Given the description of an element on the screen output the (x, y) to click on. 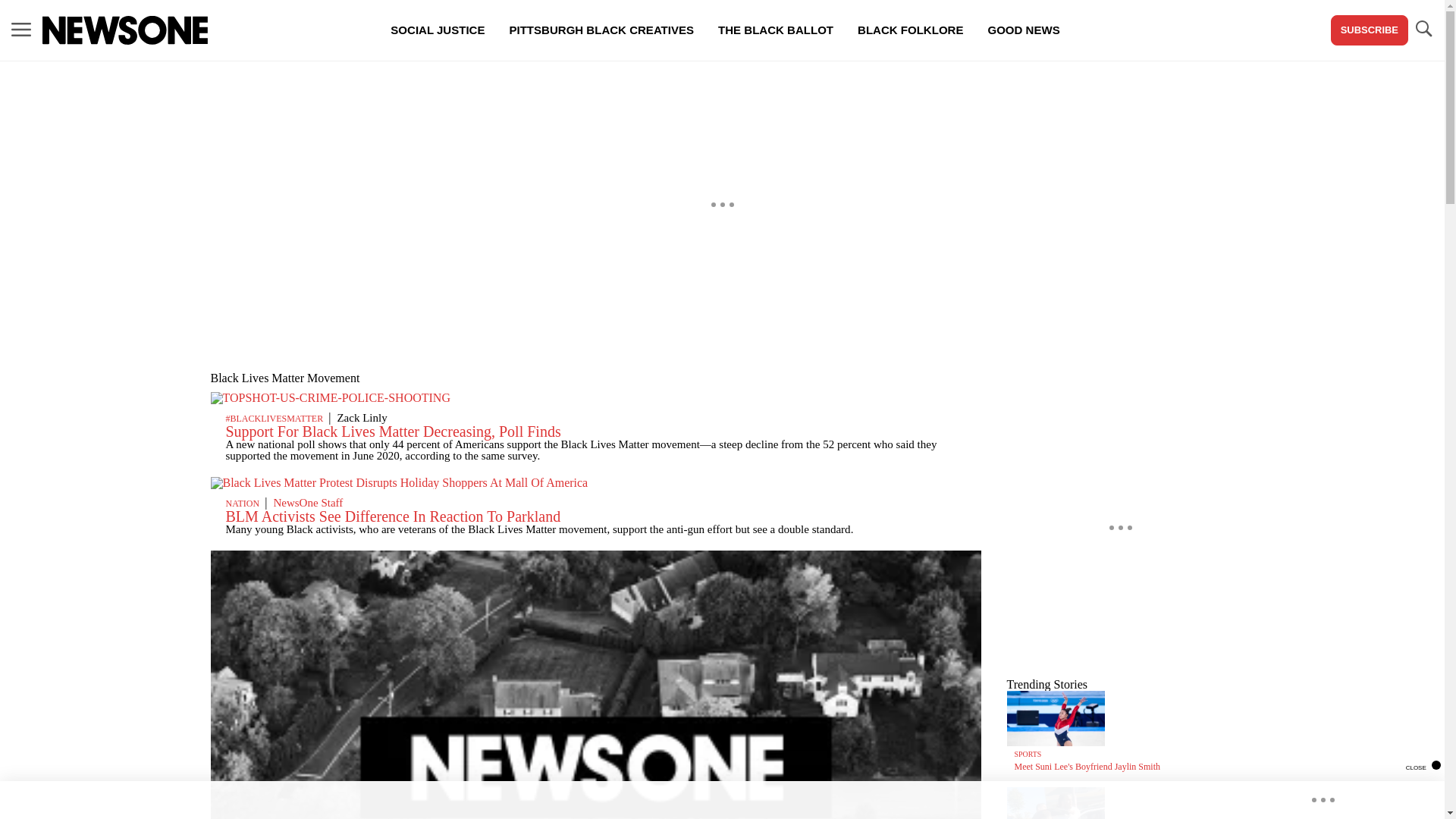
THE BLACK BALLOT (775, 30)
SUBSCRIBE (1368, 30)
MENU (20, 29)
MENU (20, 30)
GOOD NEWS (1023, 30)
NATION (242, 502)
BLACK FOLKLORE (910, 30)
BLM Activists See Difference In Reaction To Parkland (392, 515)
TOGGLE SEARCH (1422, 30)
SOCIAL JUSTICE (437, 30)
PITTSBURGH BLACK CREATIVES (601, 30)
TOGGLE SEARCH (1422, 28)
NewsOne Staff (307, 502)
Support For Black Lives Matter Decreasing, Poll Finds (392, 431)
